Given the description of an element on the screen output the (x, y) to click on. 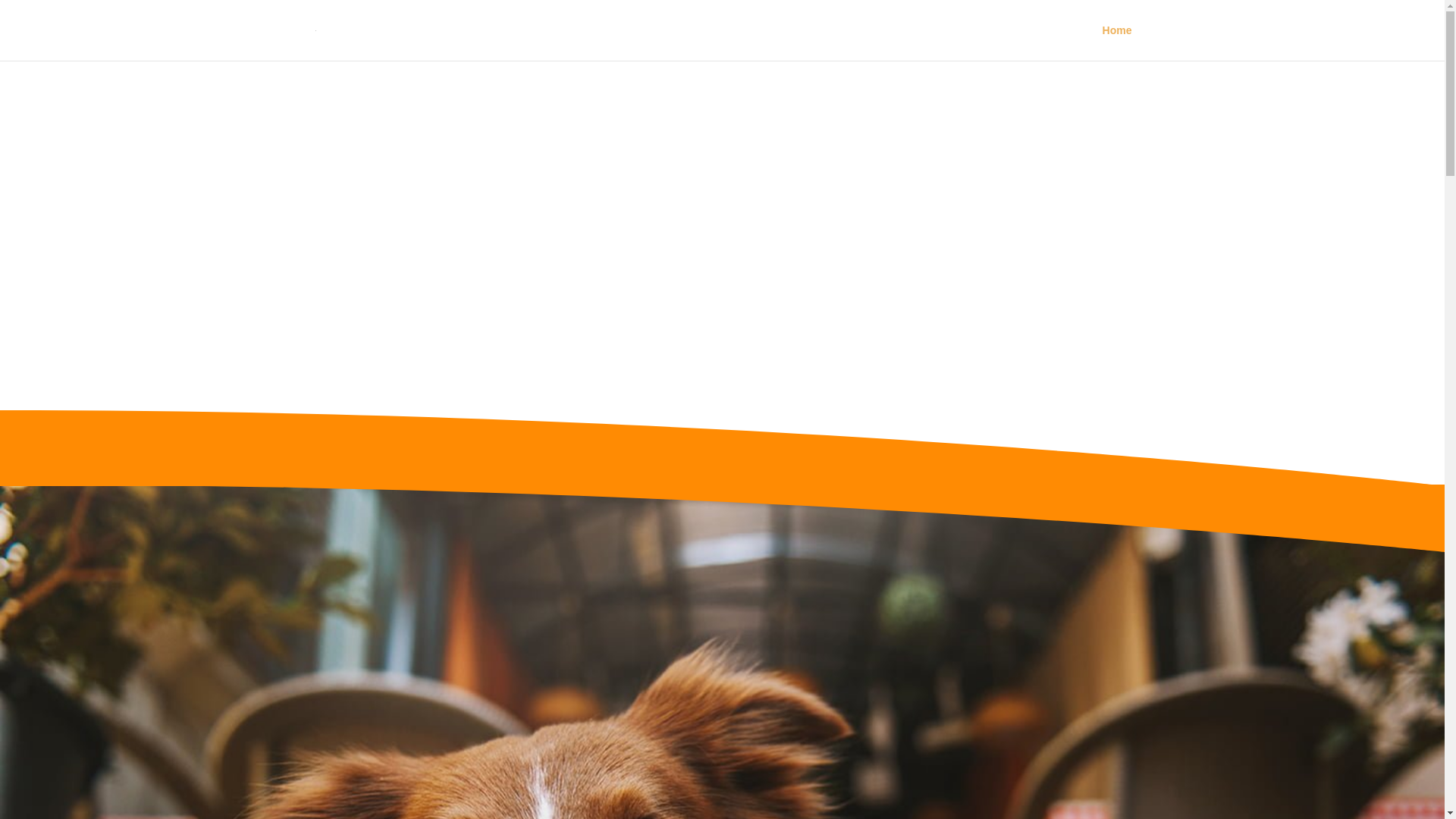
Home Element type: text (1117, 42)
